Given the description of an element on the screen output the (x, y) to click on. 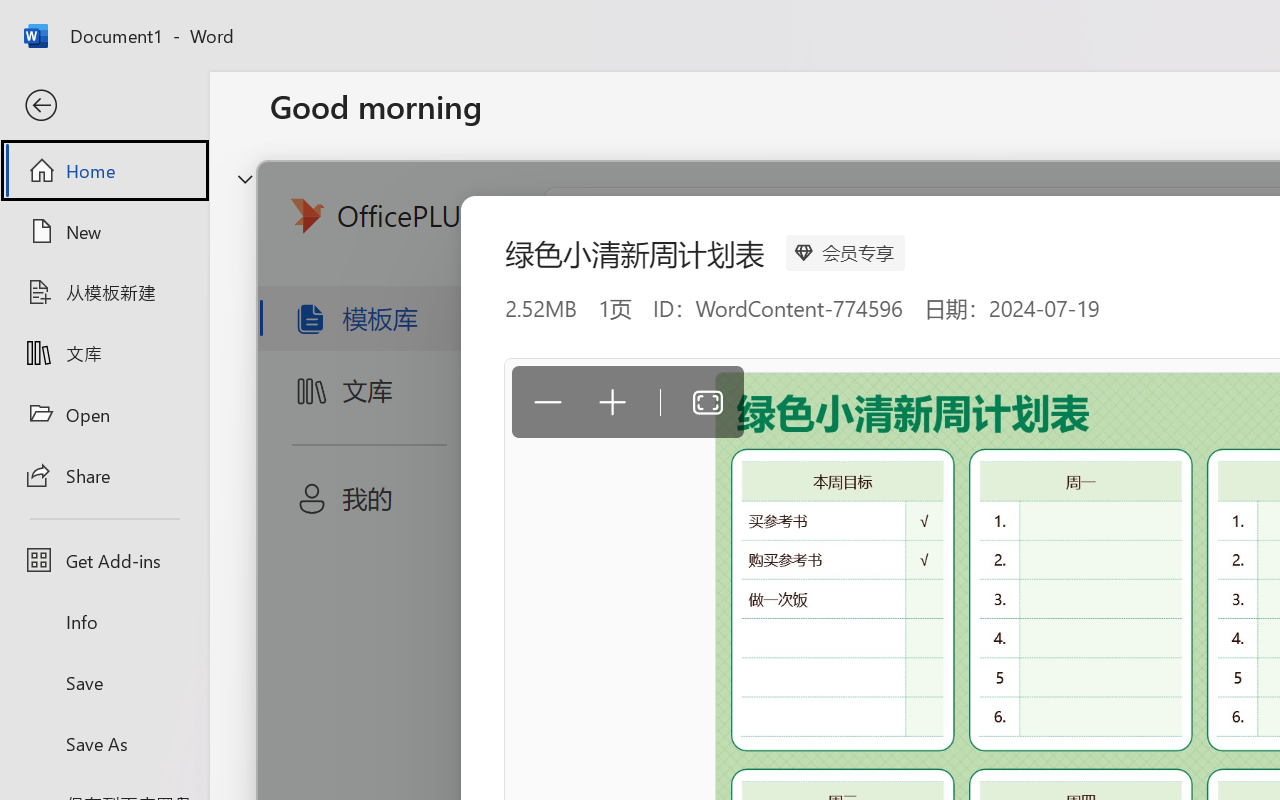
More actions for Sign in shortcut (1095, 518)
Create your Google Account (1033, 22)
Who is my administrator? - Google Account Help (509, 22)
Google News (89, 22)
Chrome Web Store (1167, 561)
Create your Google Account (613, 22)
